Given the description of an element on the screen output the (x, y) to click on. 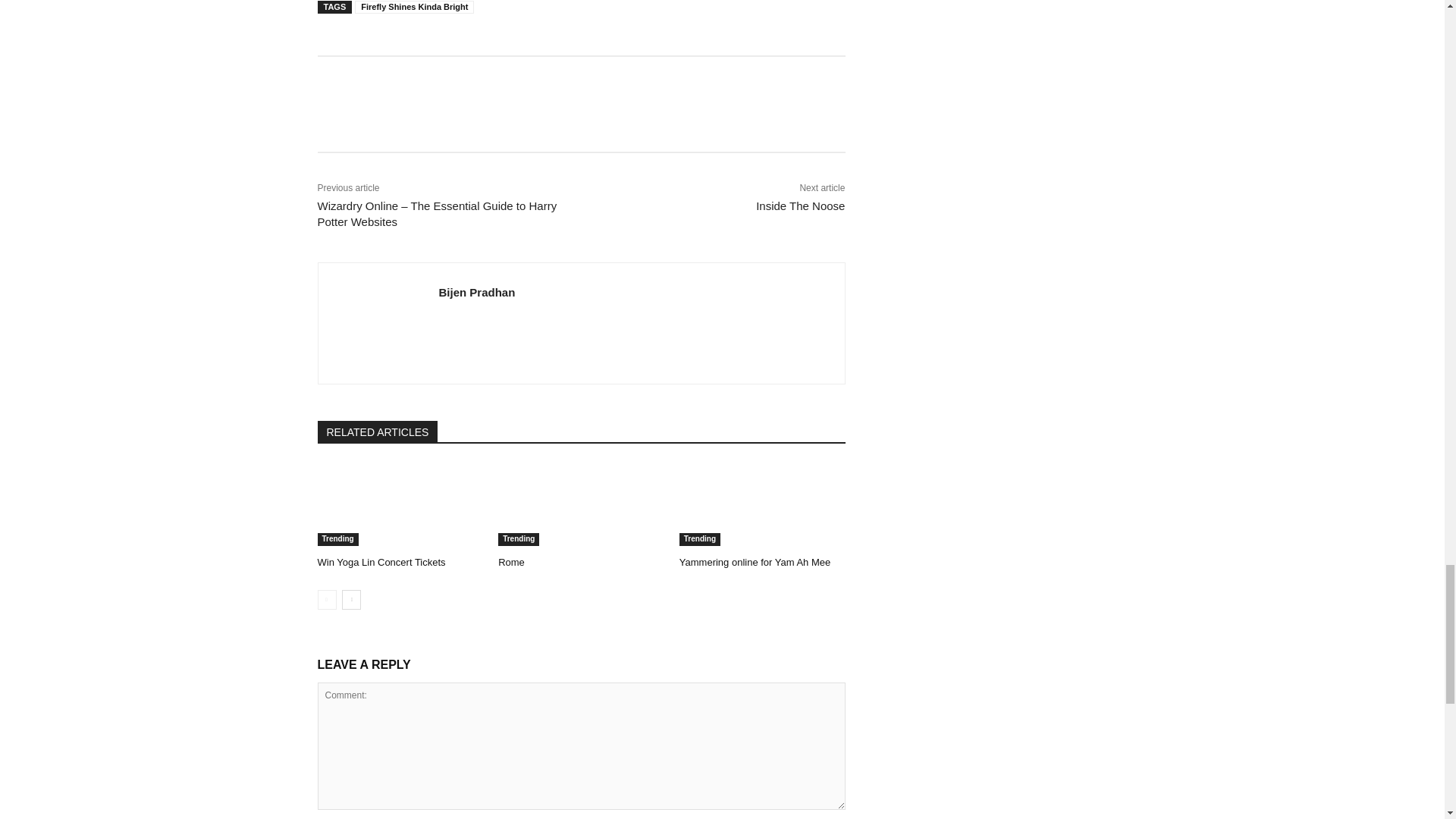
Bijen Pradhan (476, 292)
Trending (337, 539)
Win Yoga Lin Concert Tickets (381, 562)
Firefly Shines Kinda Bright (414, 6)
Bijen Pradhan (377, 323)
Inside The Noose (799, 205)
Rome (580, 504)
Win Yoga Lin Concert Tickets (381, 562)
Win Yoga Lin Concert Tickets (400, 504)
Rome (510, 562)
